Given the description of an element on the screen output the (x, y) to click on. 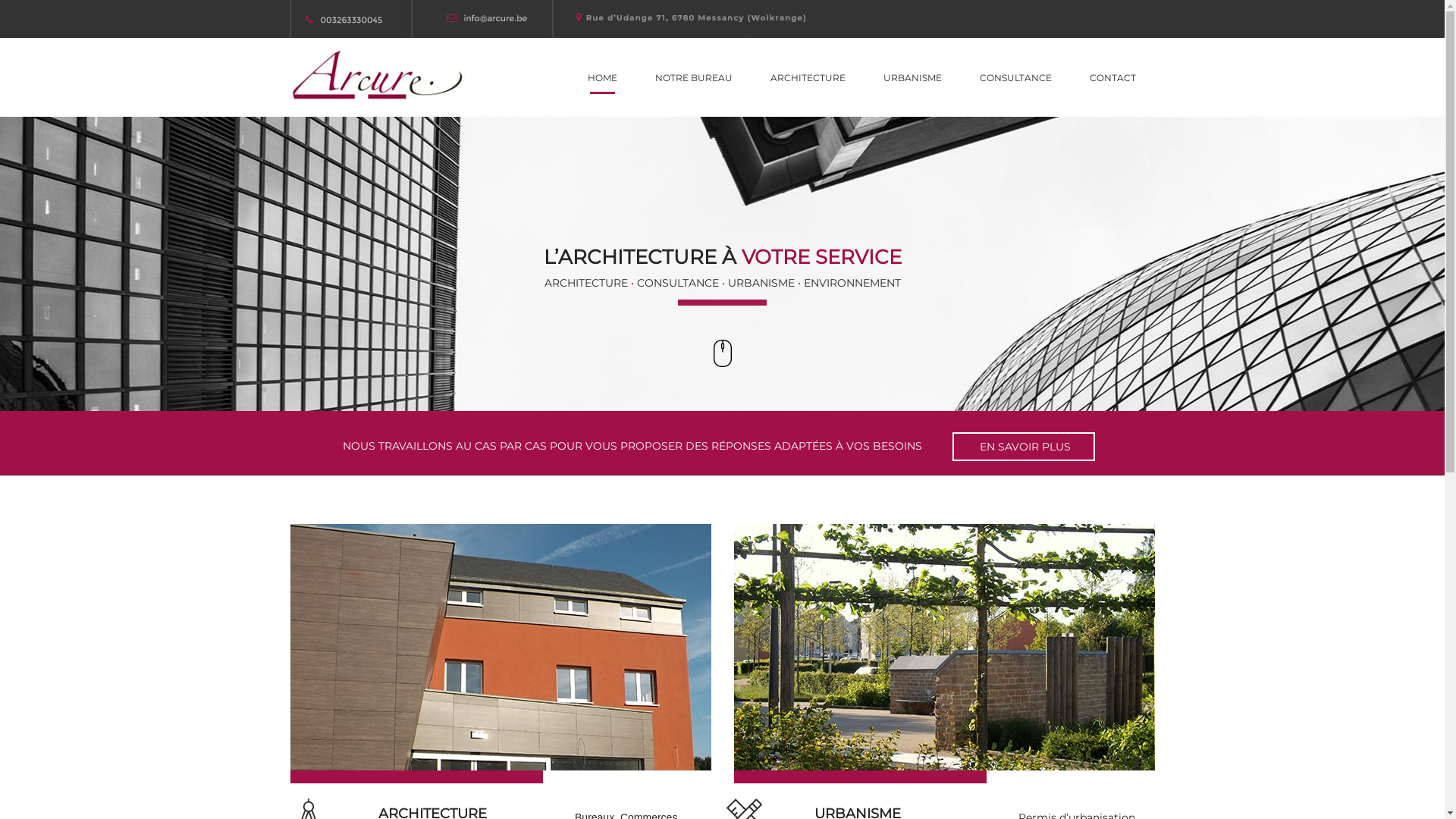
 EN SAVOIR PLUS Element type: text (1023, 446)
CONSULTANCE Element type: text (1015, 78)
CONTACT Element type: text (1112, 78)
ARCHITECTURE Element type: text (806, 78)
URBANISME Element type: text (912, 78)
HOME Element type: text (602, 78)
NOTRE BUREAU Element type: text (692, 78)
